Given the description of an element on the screen output the (x, y) to click on. 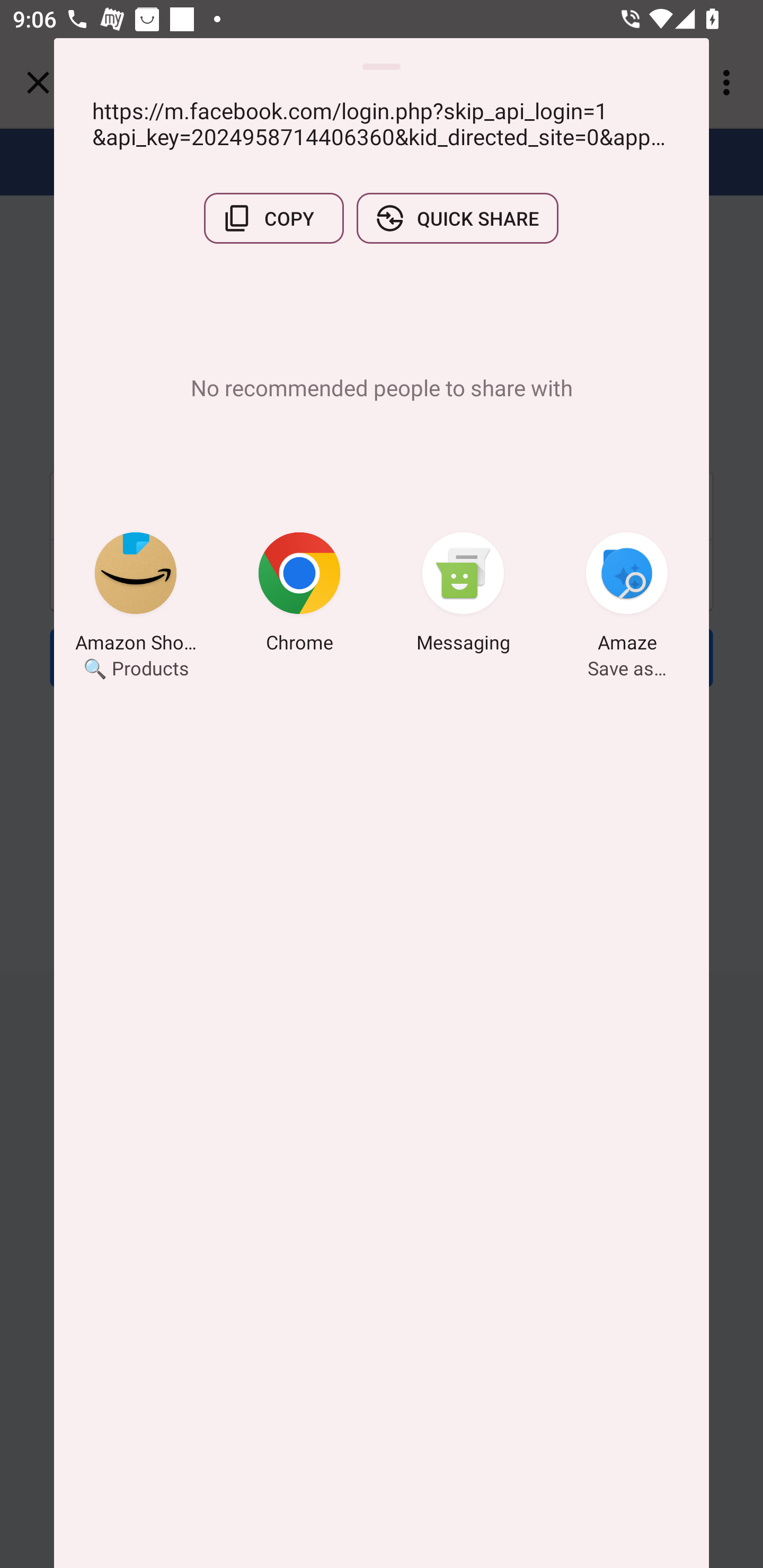
COPY (273, 218)
QUICK SHARE (457, 218)
Amazon Shopping 🔍 Products (135, 594)
Chrome (299, 594)
Messaging (463, 594)
Amaze Save as… (626, 594)
